Given the description of an element on the screen output the (x, y) to click on. 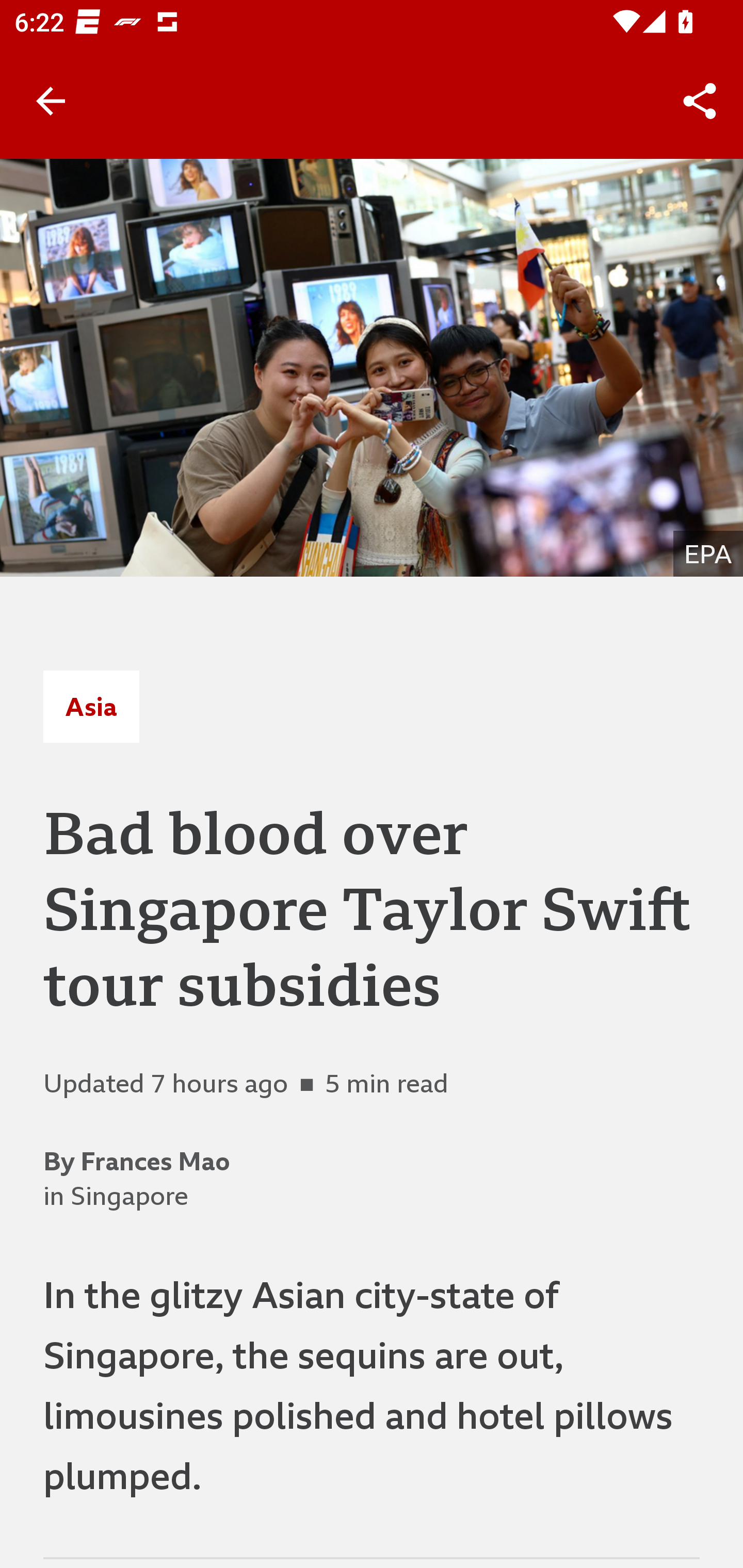
Back (50, 101)
Share (699, 101)
Asia (91, 706)
